Given the description of an element on the screen output the (x, y) to click on. 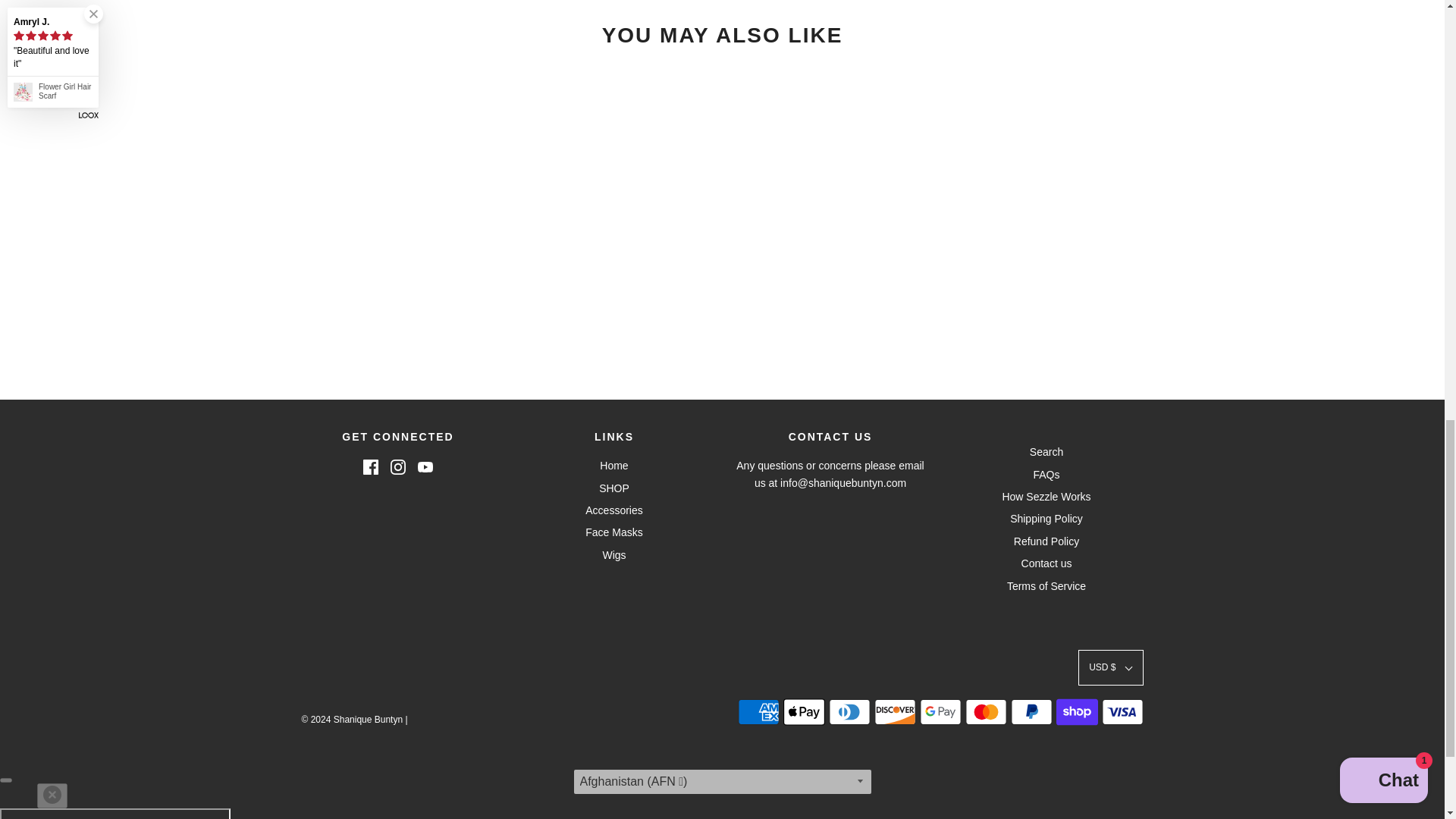
Discover (894, 711)
Apple Pay (803, 711)
Facebook icon (370, 467)
Instagram icon (398, 467)
YouTube icon (424, 467)
Diners Club (848, 711)
American Express (757, 711)
